Given the description of an element on the screen output the (x, y) to click on. 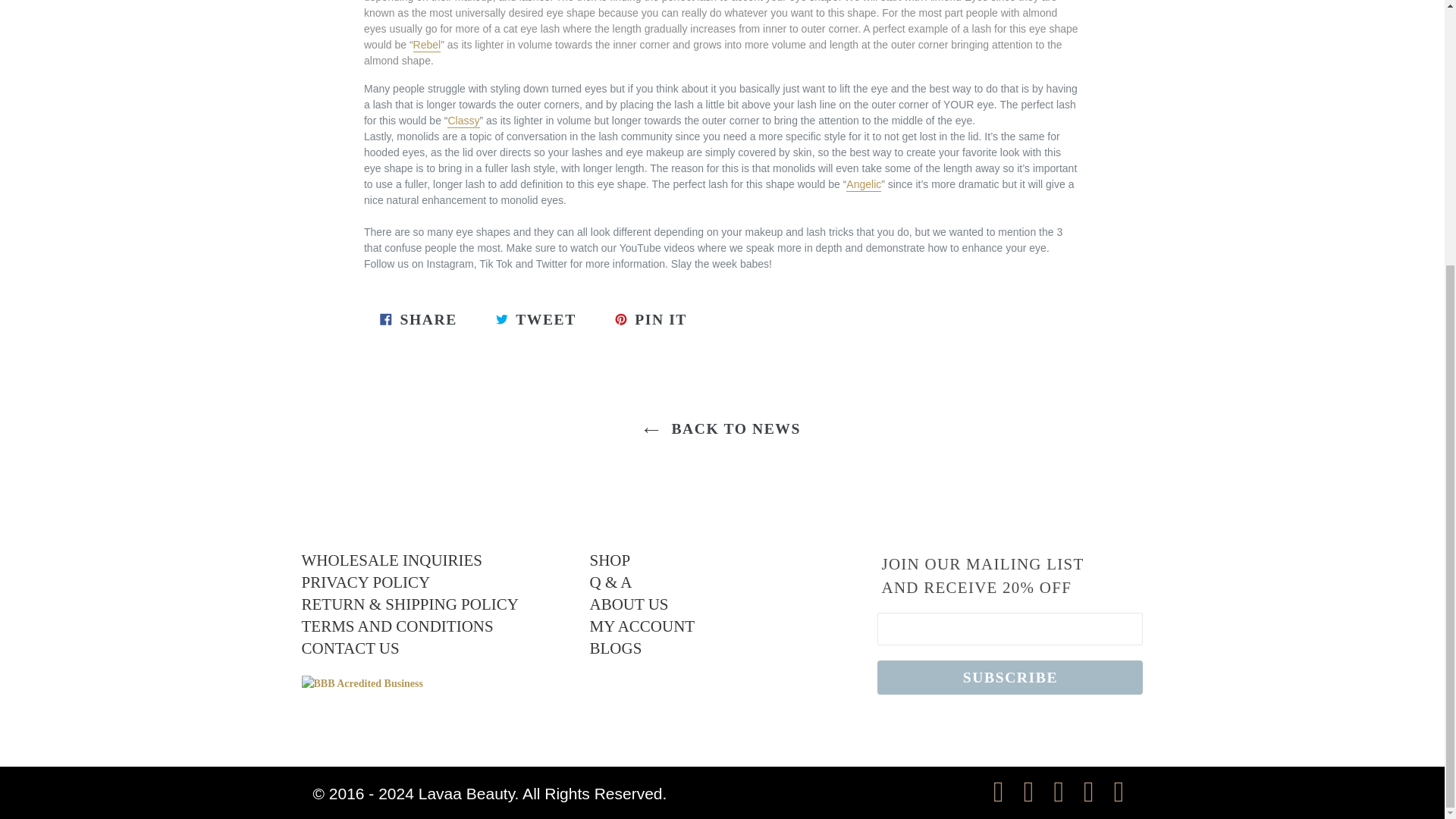
Tweet on Twitter (536, 318)
Pin on Pinterest (650, 318)
Subscribe (1009, 677)
Share on Facebook (418, 318)
